Given the description of an element on the screen output the (x, y) to click on. 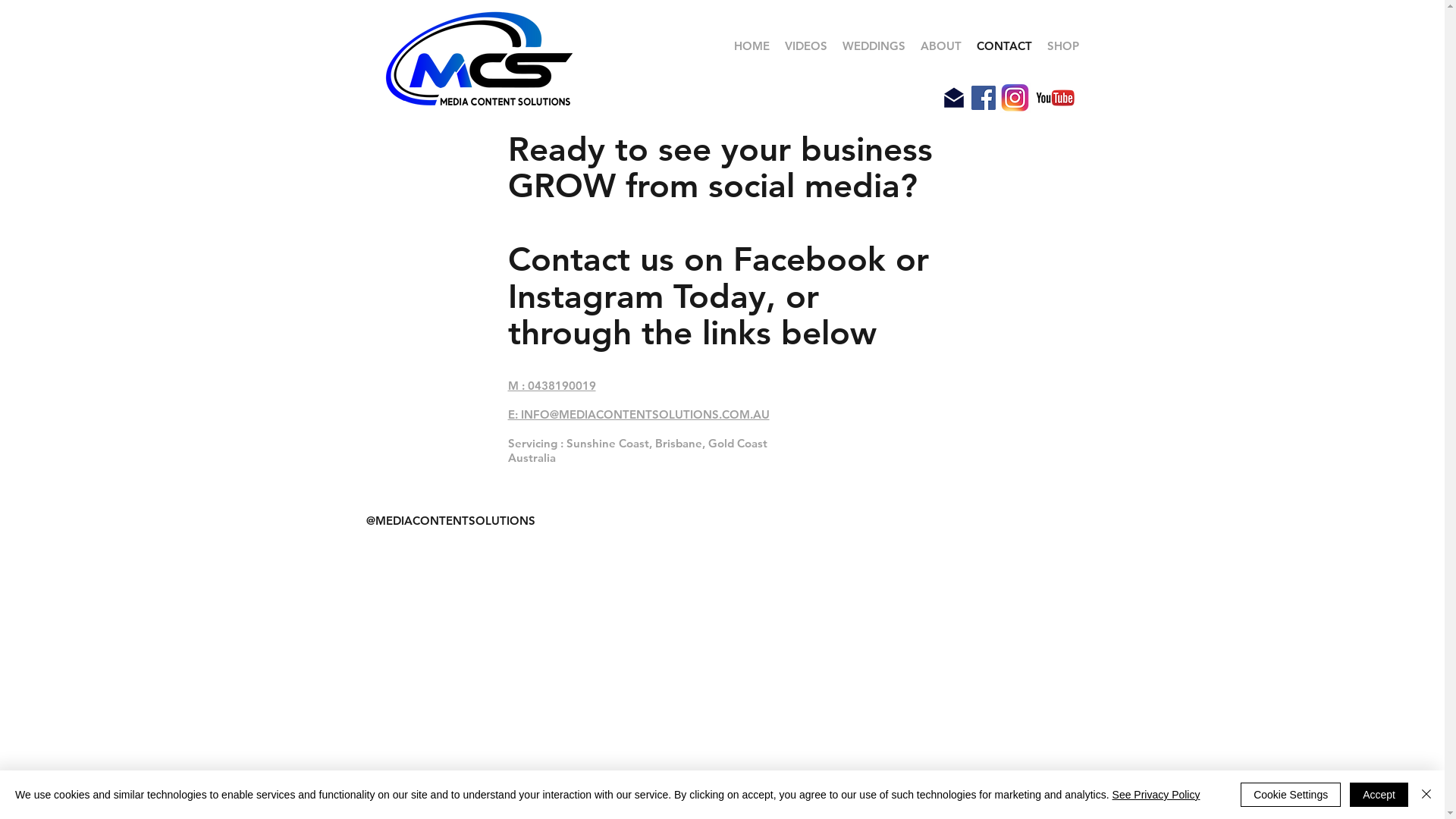
M : 0438190019 Element type: text (552, 385)
Cookie Settings Element type: text (1290, 794)
CONTACT Element type: text (1004, 46)
See Privacy Policy Element type: text (1156, 794)
SHOP Element type: text (1061, 46)
VIDEOS Element type: text (805, 46)
Accept Element type: text (1378, 794)
HOME Element type: text (751, 46)
E: INFO@MEDIACONTENTSOLUTIONS.COM.AU Element type: text (638, 421)
ABOUT Element type: text (941, 46)
WEDDINGS Element type: text (873, 46)
